Given the description of an element on the screen output the (x, y) to click on. 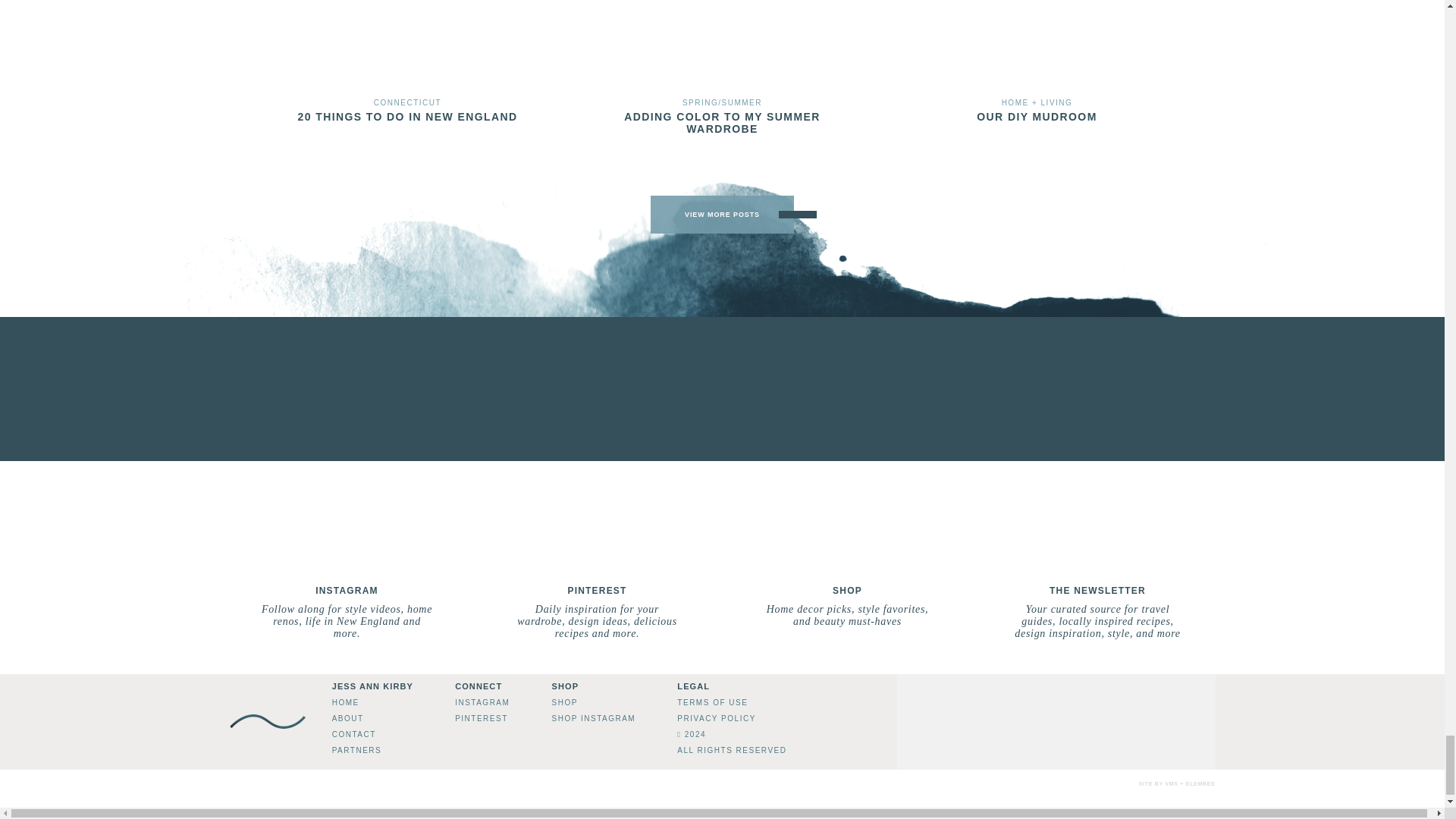
View all posts in Connecticut (407, 102)
